Given the description of an element on the screen output the (x, y) to click on. 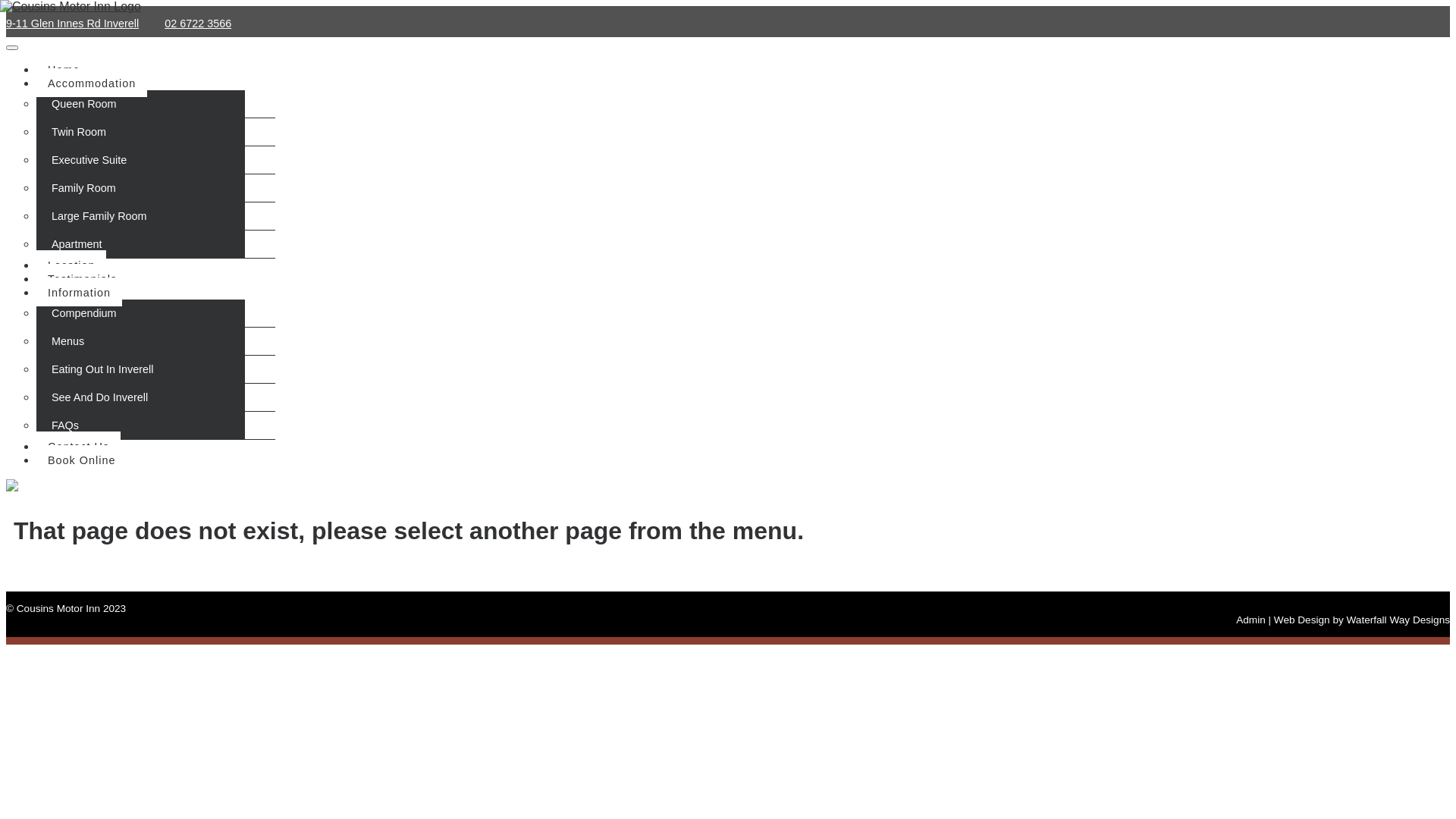
Information Element type: text (79, 291)
Book Online Element type: text (81, 459)
Family Room Element type: text (155, 188)
See And Do Inverell Element type: text (155, 397)
Location Element type: text (71, 264)
Admin Element type: text (1250, 619)
02 6722 3566 Element type: text (197, 23)
Accommodation Element type: text (91, 82)
Menus Element type: text (155, 341)
Eating Out In Inverell Element type: text (155, 369)
Executive Suite Element type: text (155, 160)
Large Family Room Element type: text (155, 216)
Testimonials Element type: text (82, 277)
FAQs Element type: text (155, 425)
Home Element type: text (63, 68)
Apartment Element type: text (155, 244)
Contact Us Element type: text (78, 445)
9-11 Glen Innes Rd Inverell Element type: text (72, 23)
Twin Room Element type: text (155, 132)
Queen Room Element type: text (155, 104)
Waterfall Way Designs Element type: text (1397, 619)
Compendium Element type: text (155, 313)
